Given the description of an element on the screen output the (x, y) to click on. 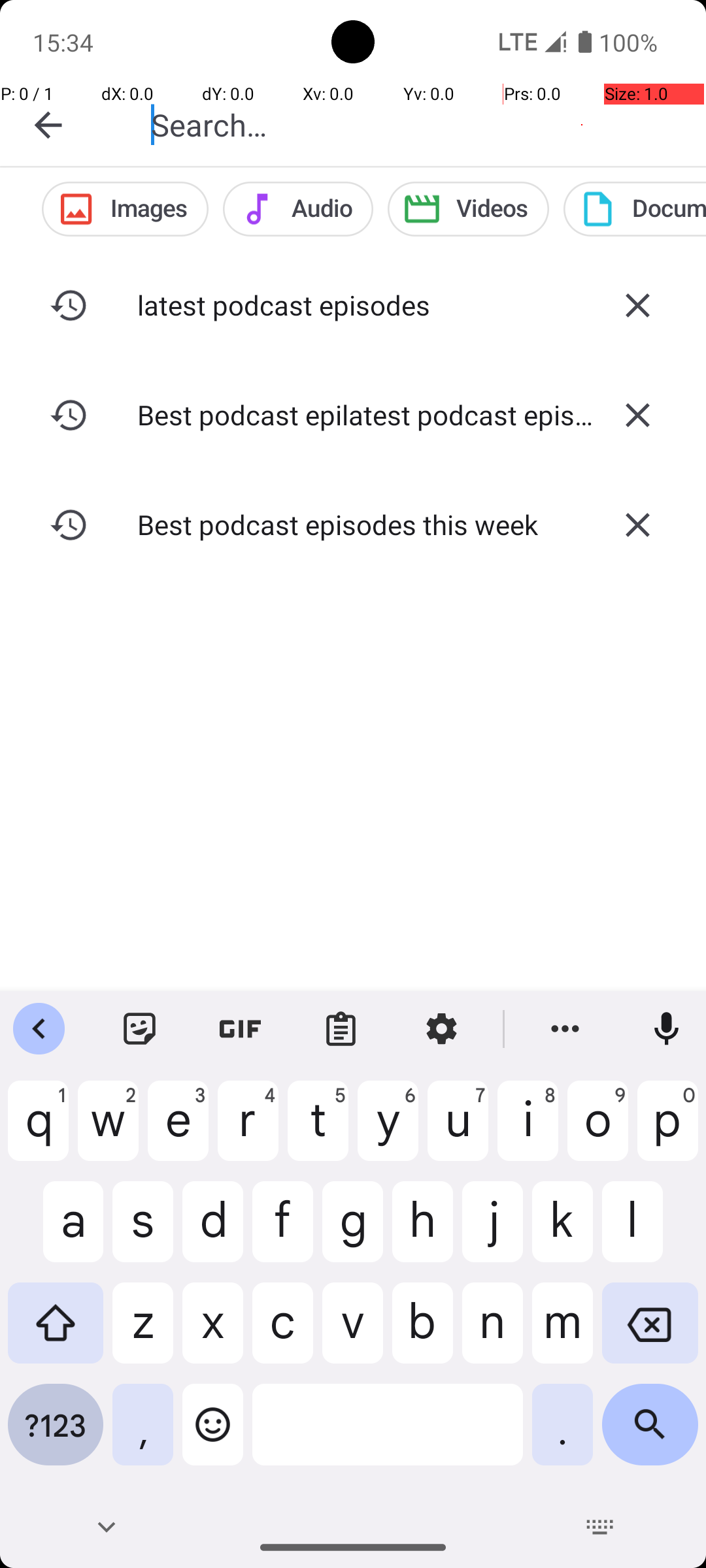
latest podcast episodes Element type: android.widget.TextView (352, 304)
Delete search history latest podcast episodes Element type: android.widget.ImageView (637, 304)
Best podcast epilatest podcast episodes on technologysodes this week Element type: android.widget.TextView (352, 414)
Delete search history Best podcast epilatest podcast episodes on technologysodes this week Element type: android.widget.ImageView (637, 414)
Best podcast episodes this week Element type: android.widget.TextView (352, 523)
Delete search history Best podcast episodes this week Element type: android.widget.ImageView (637, 524)
